Given the description of an element on the screen output the (x, y) to click on. 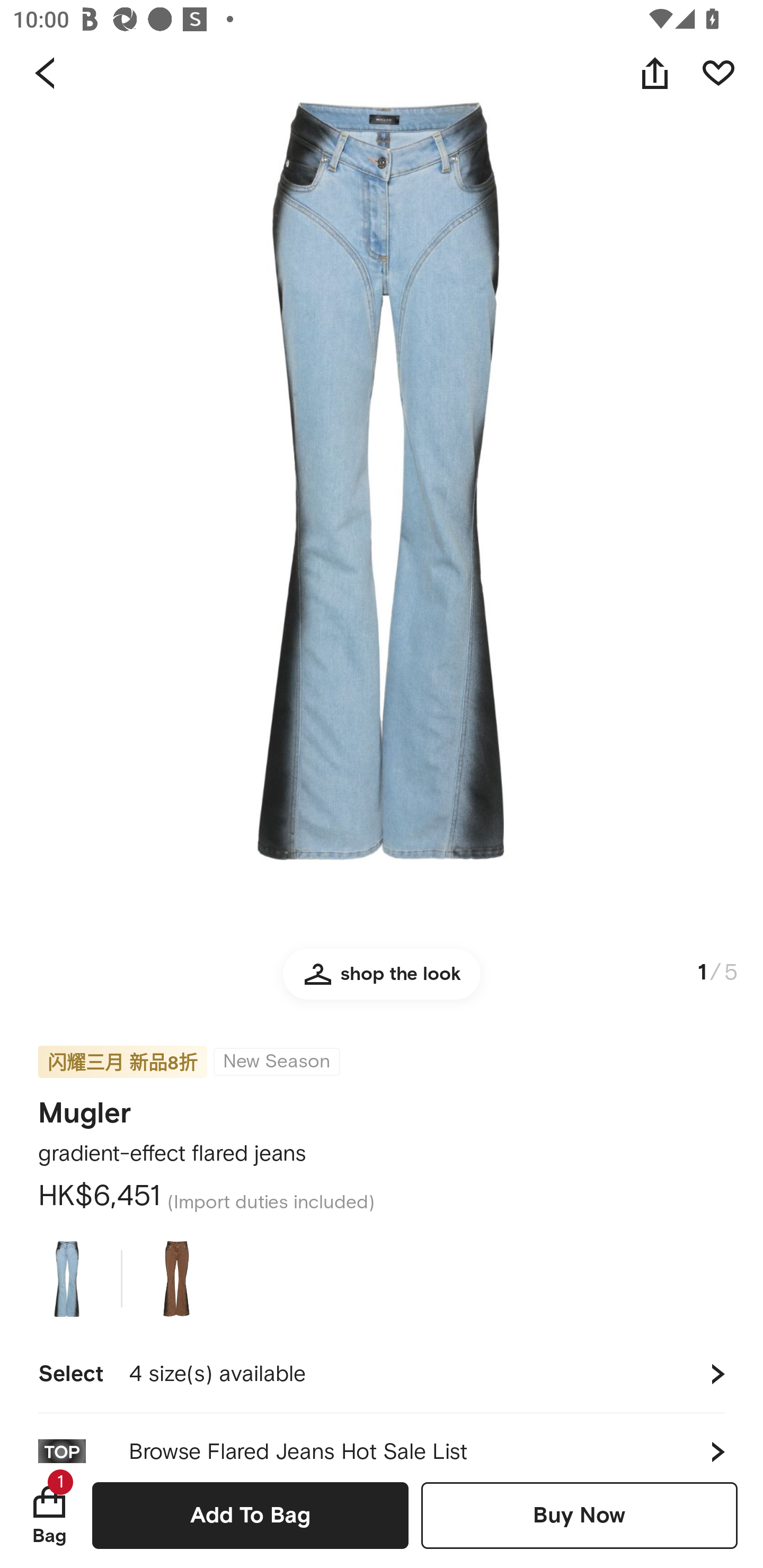
shop the look (381, 982)
闪耀三月 新品8折 (122, 1061)
Mugler (84, 1107)
Select 4 size(s) available (381, 1373)
Browse Flared Jeans Hot Sale List (381, 1438)
Bag 1 (49, 1515)
Add To Bag (250, 1515)
Buy Now (579, 1515)
